Given the description of an element on the screen output the (x, y) to click on. 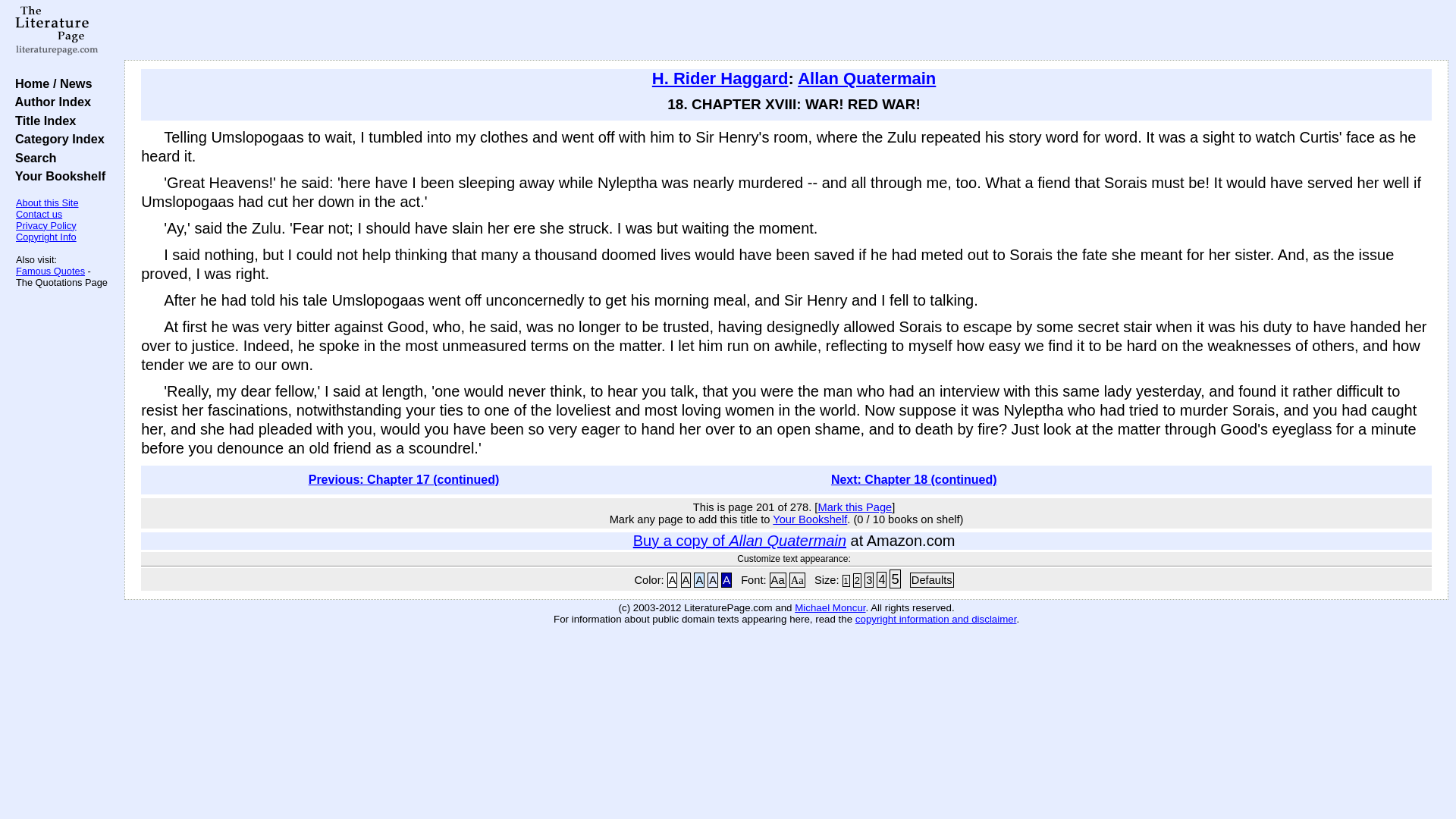
Color 4 (712, 580)
About this Site (47, 202)
  Search (32, 157)
Color 5 (726, 580)
Defaults (931, 580)
3 (868, 580)
A (712, 580)
. (953, 607)
1 (846, 580)
  Author Index (49, 101)
  Category Index (56, 138)
Size 1 (846, 580)
H. Rider Haggard (720, 77)
Famous Quotes (50, 270)
Allan Quatermain (866, 77)
